Given the description of an element on the screen output the (x, y) to click on. 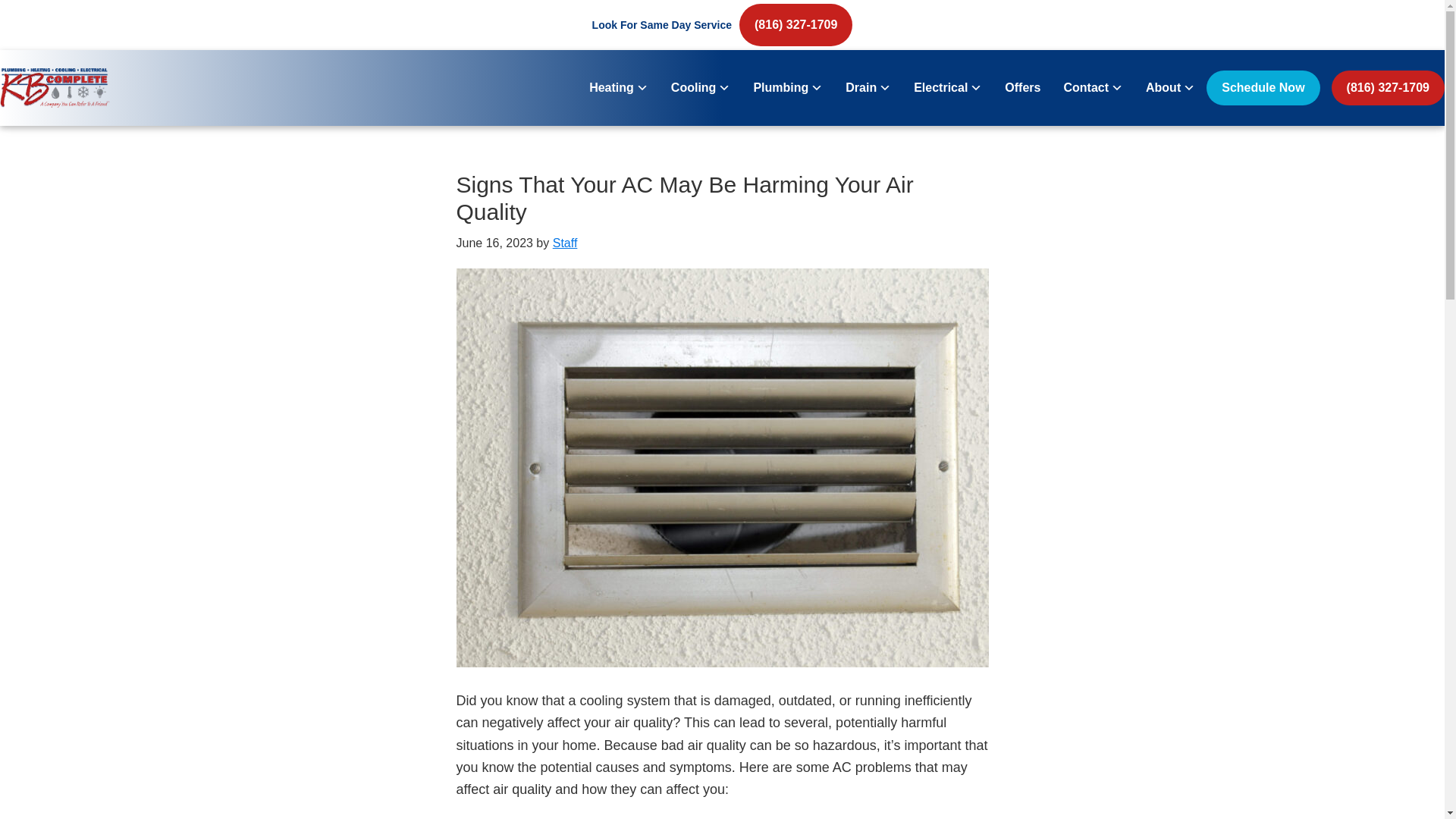
Cooling (700, 87)
Plumbing (787, 87)
Heating (618, 87)
